Given the description of an element on the screen output the (x, y) to click on. 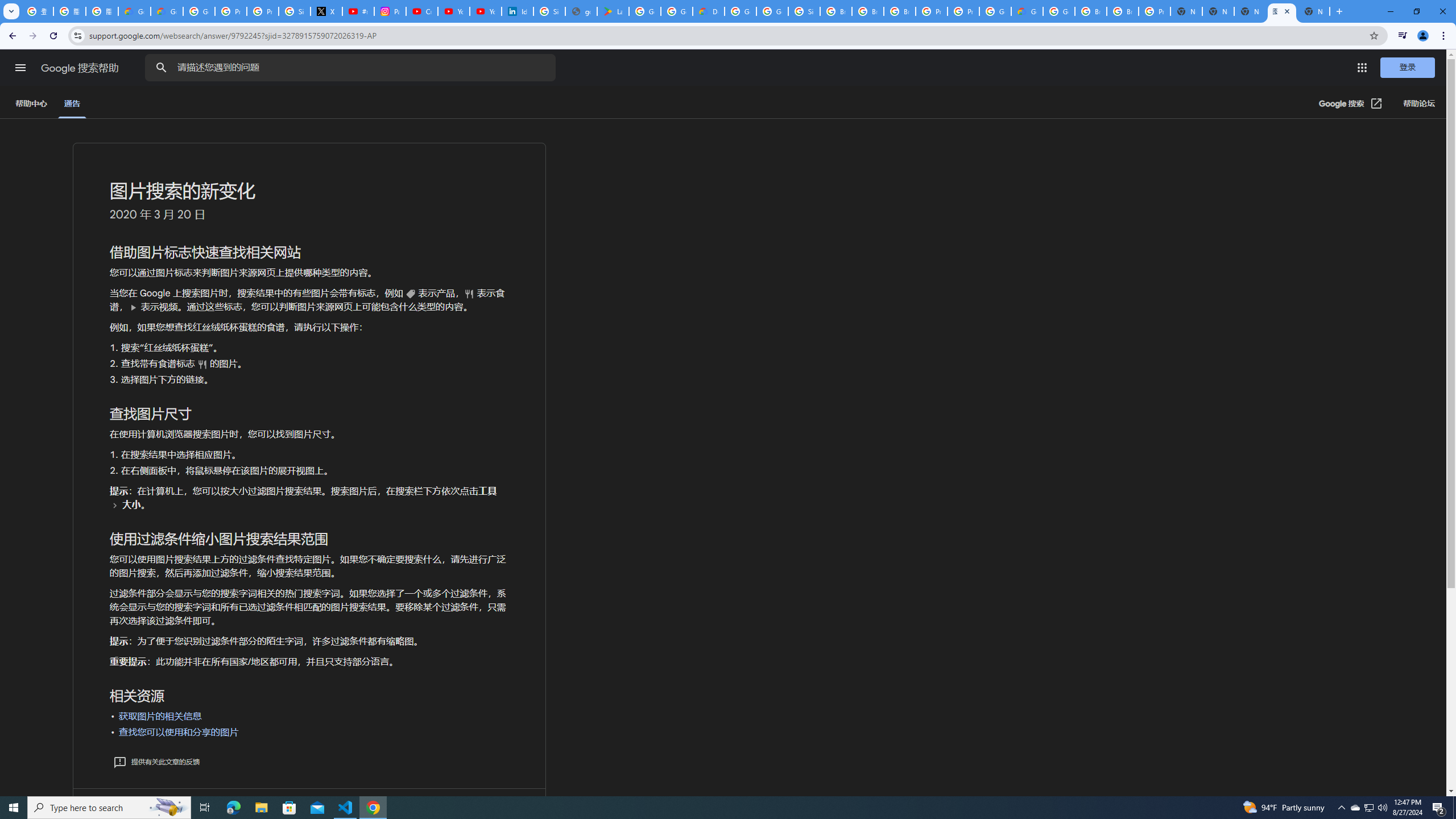
Google Cloud Platform (740, 11)
Browse Chrome as a guest - Computer - Google Chrome Help (1123, 11)
Privacy Help Center - Policies Help (262, 11)
google_privacy_policy_en.pdf (581, 11)
Google Cloud Privacy Notice (166, 11)
Google Cloud Estimate Summary (1027, 11)
